Given the description of an element on the screen output the (x, y) to click on. 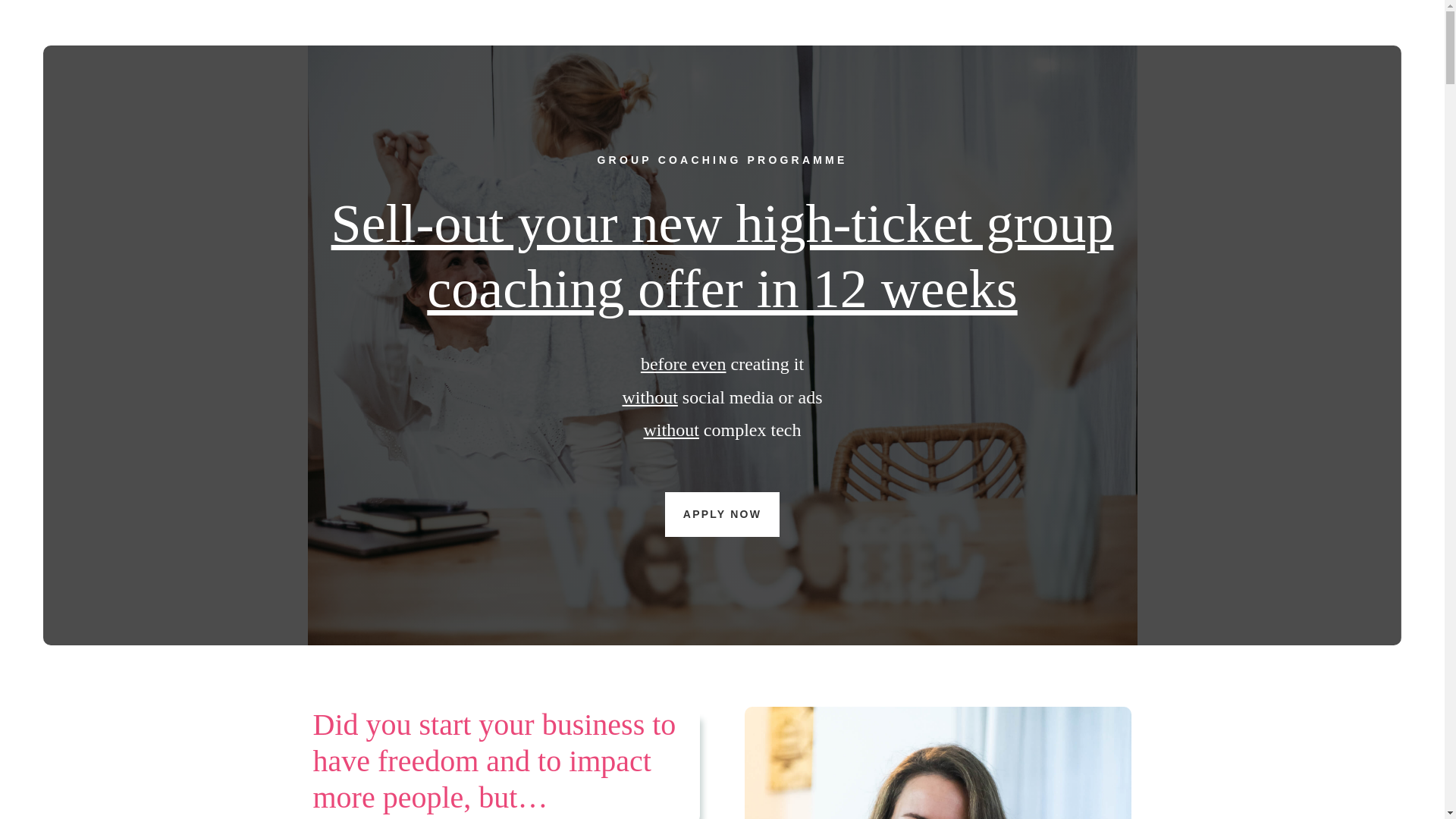
APPLY NOW (721, 514)
fotos marta -75 (937, 762)
